Given the description of an element on the screen output the (x, y) to click on. 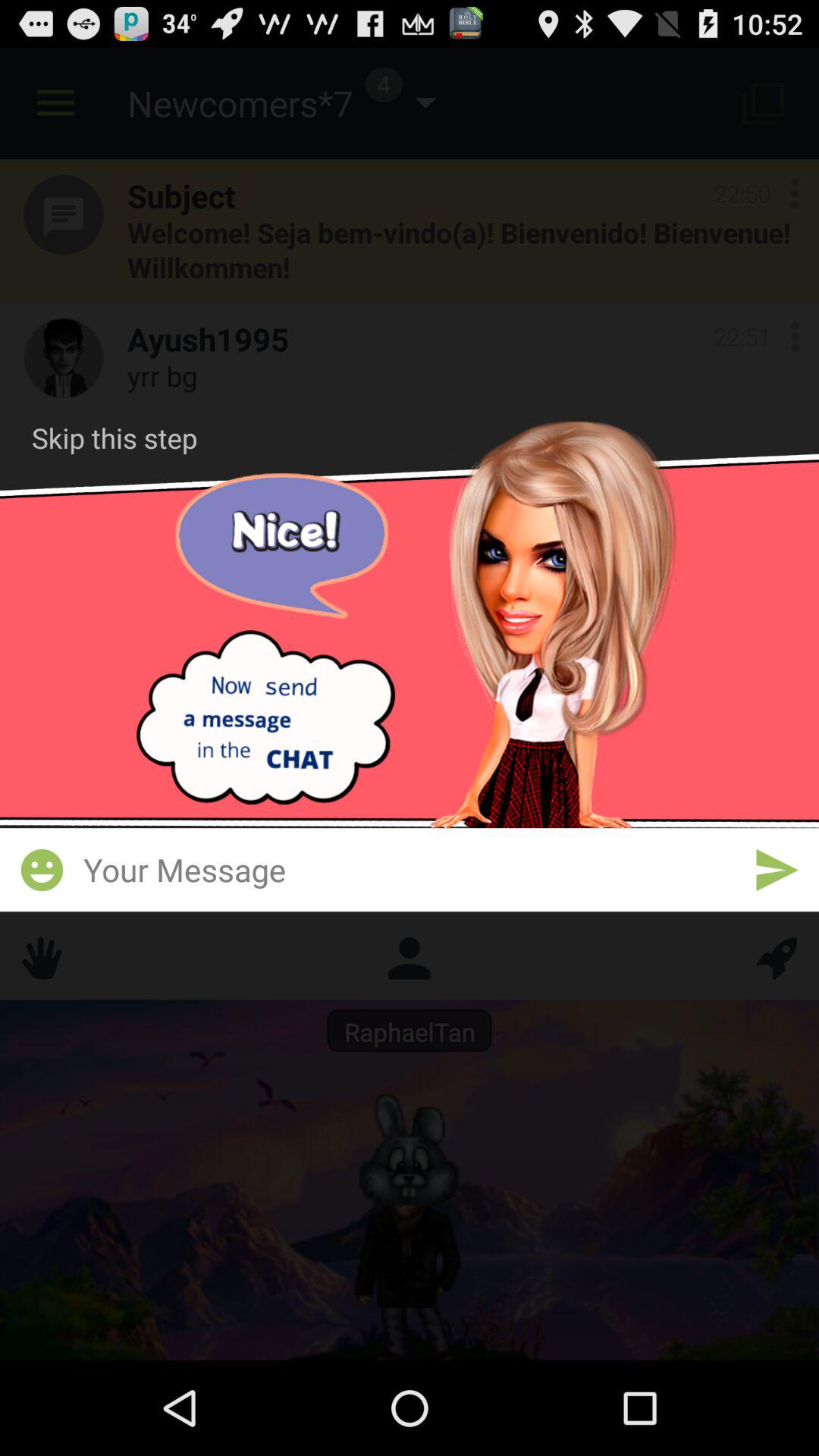
type your message here (409, 869)
